Given the description of an element on the screen output the (x, y) to click on. 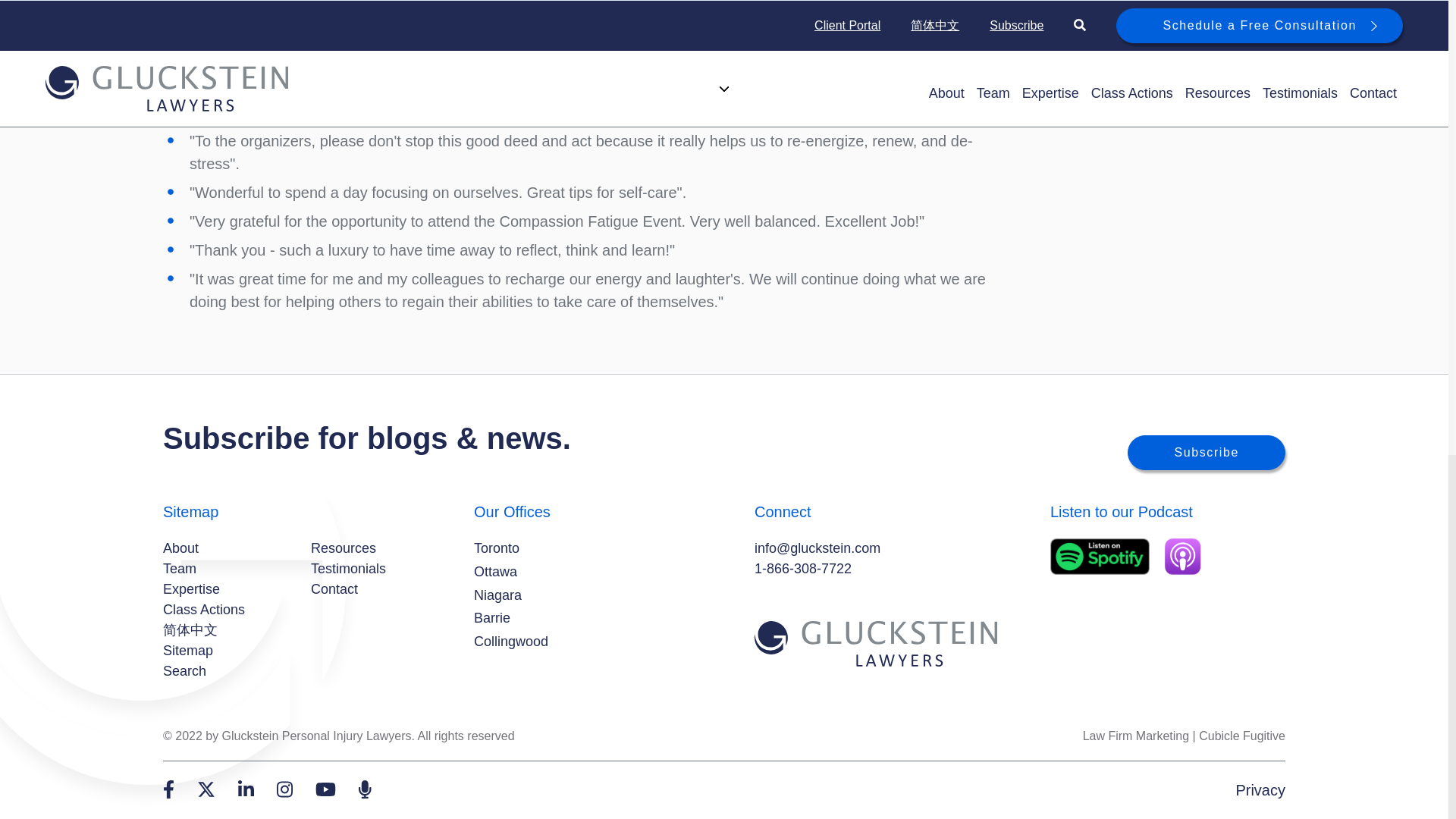
Barrie (492, 618)
Email Gluckstein LLP now (817, 548)
Toronto (496, 548)
Ottawa (495, 571)
Collingwood (511, 641)
Niagara (497, 595)
Call Gluckstein LLP now (802, 568)
